Given the description of an element on the screen output the (x, y) to click on. 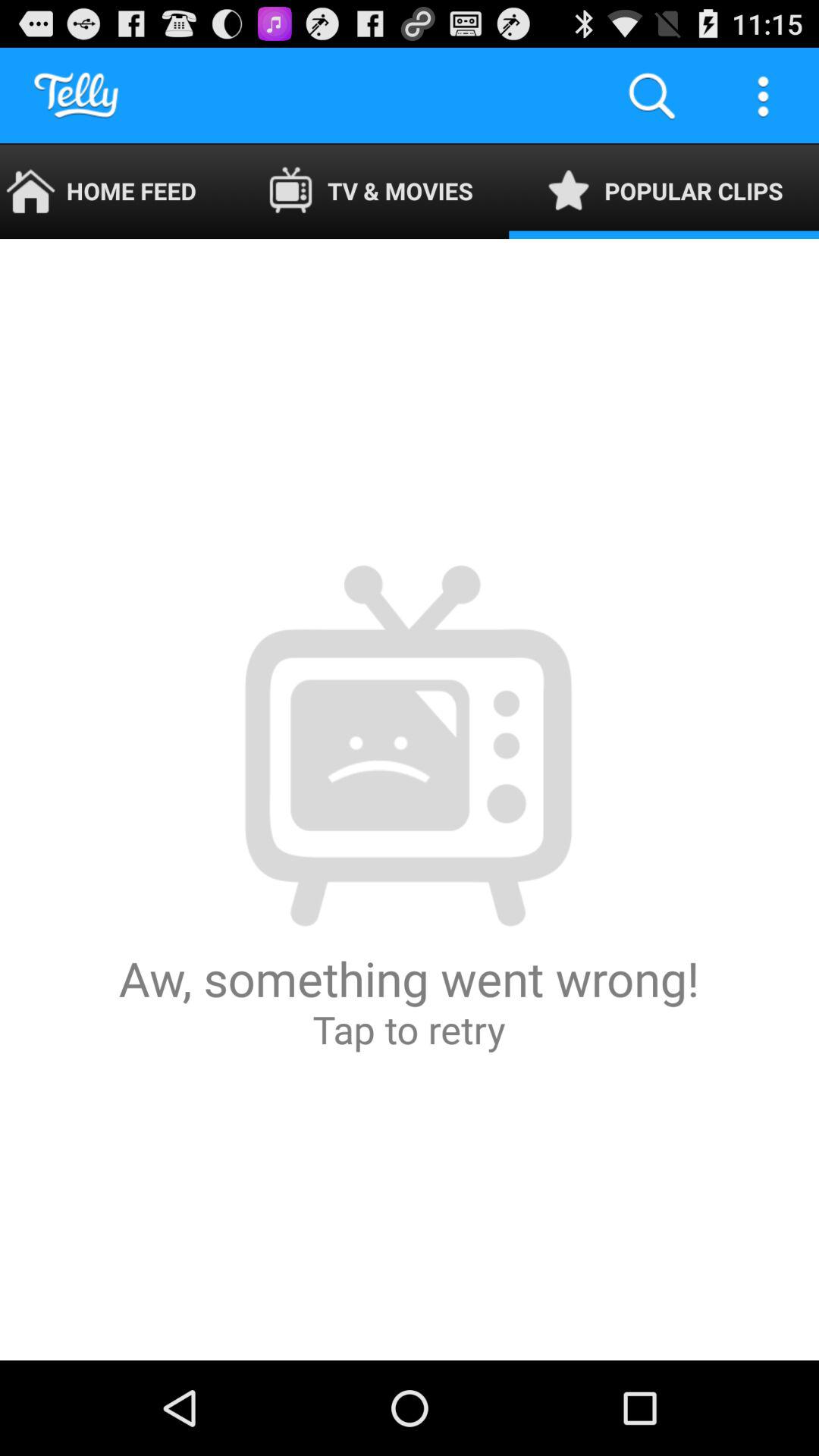
select icon above the aw something went icon (664, 190)
